Given the description of an element on the screen output the (x, y) to click on. 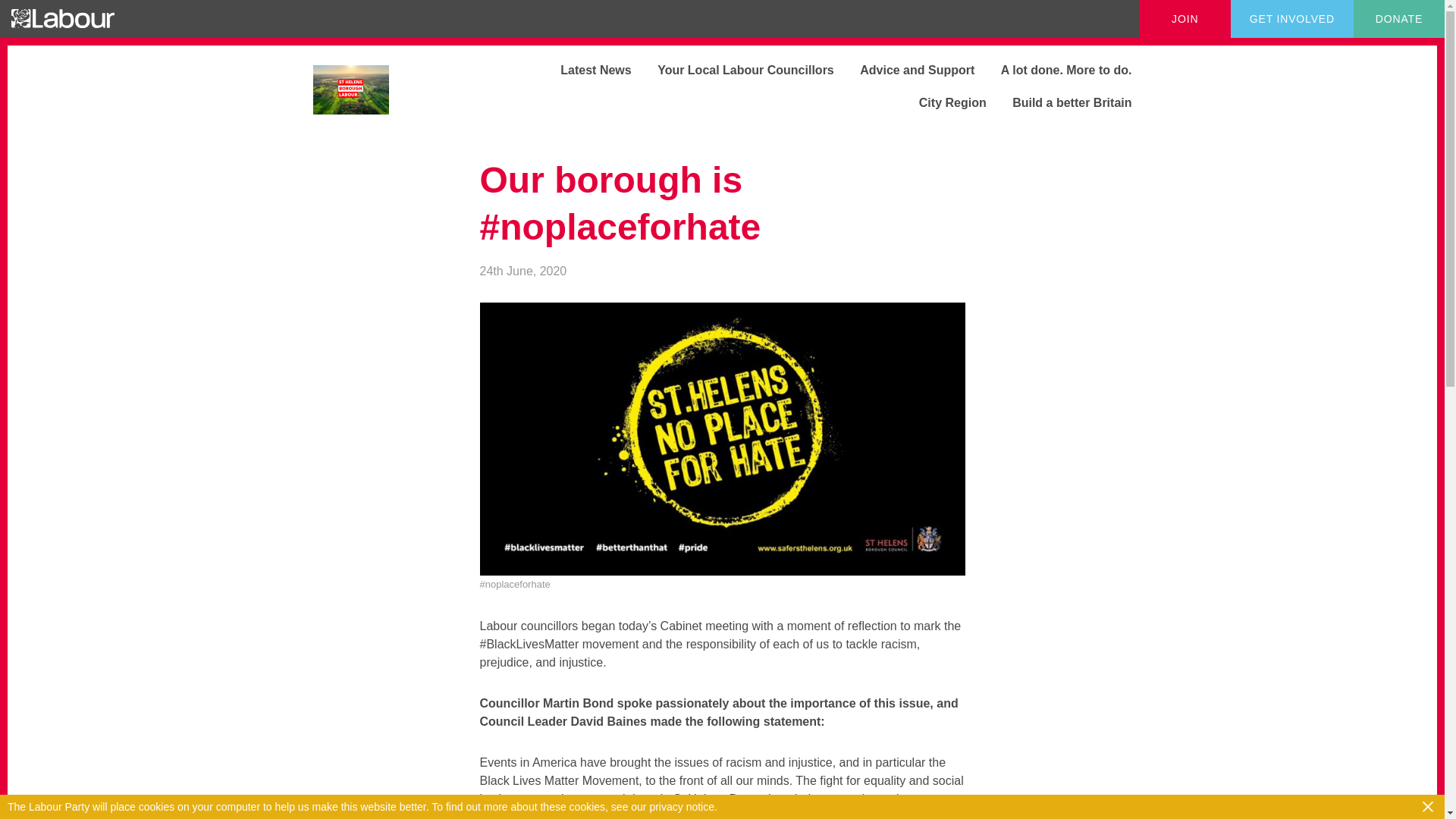
JOIN (1185, 18)
Latest News (583, 69)
A lot done. More to do. (1055, 69)
Build a better Britain (1060, 102)
Your Local Labour Councillors (734, 69)
City Region (941, 102)
GET INVOLVED (1292, 18)
Advice and Support (905, 69)
